Given the description of an element on the screen output the (x, y) to click on. 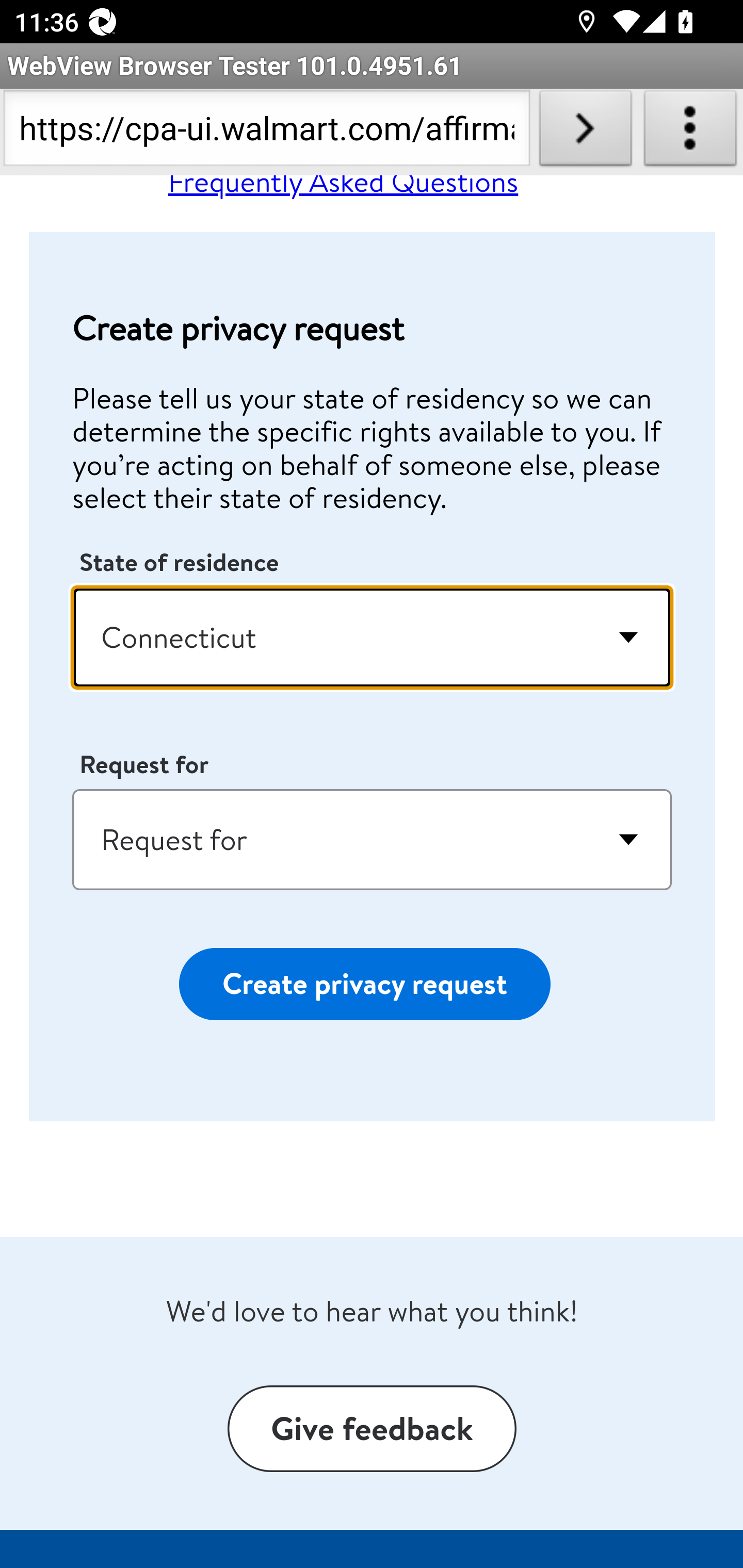
Load URL (585, 132)
About WebView (690, 132)
Frequently Asked Questions (343, 189)
Connecticut (372, 637)
Request for (372, 840)
Create privacy request (364, 985)
Give feedback (371, 1429)
